Given the description of an element on the screen output the (x, y) to click on. 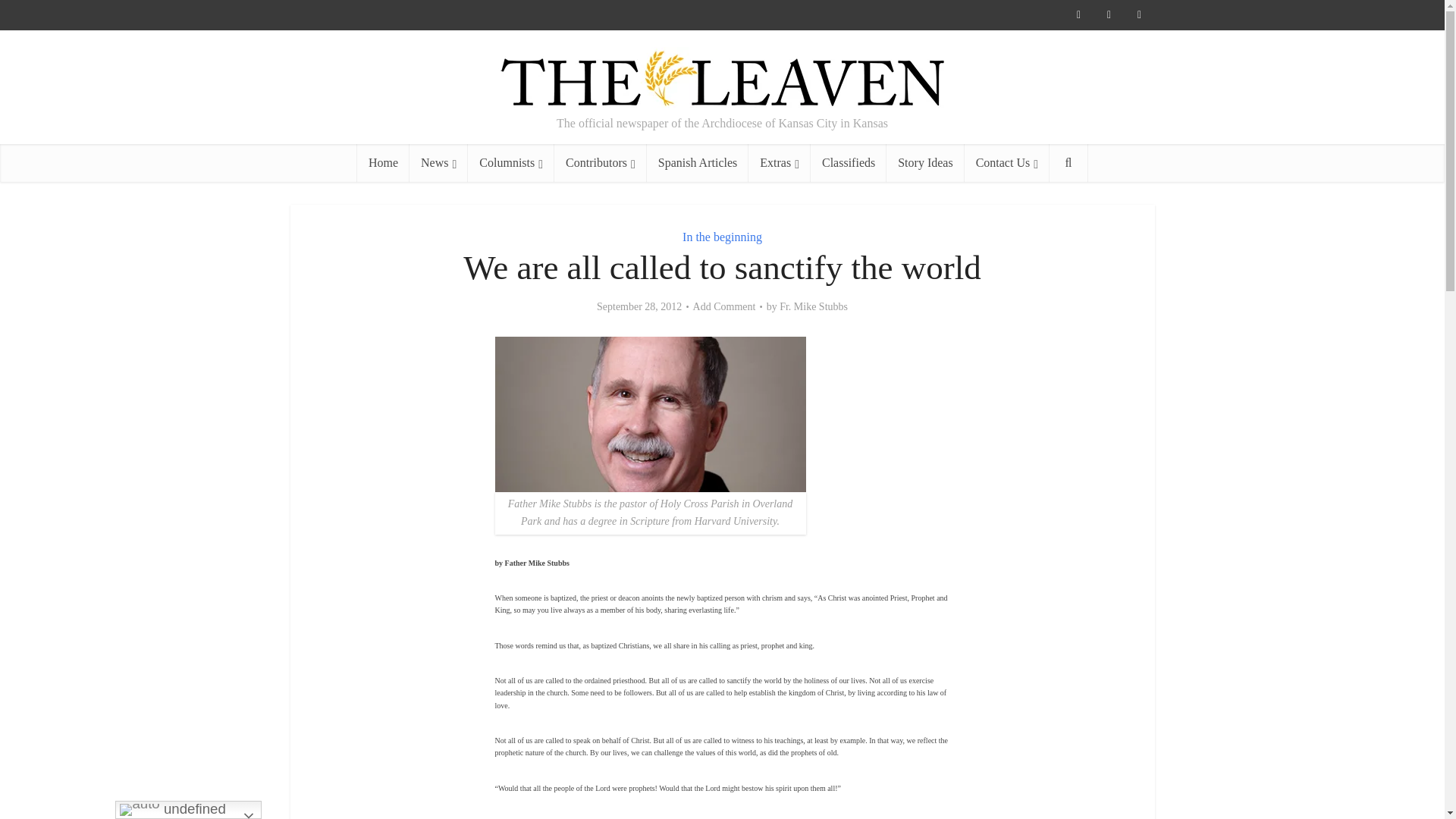
Spanish Articles (697, 162)
None (438, 162)
News (438, 162)
Classifieds (848, 162)
Contributors (600, 162)
Extras (779, 162)
Columnists (510, 162)
Home (382, 162)
